Given the description of an element on the screen output the (x, y) to click on. 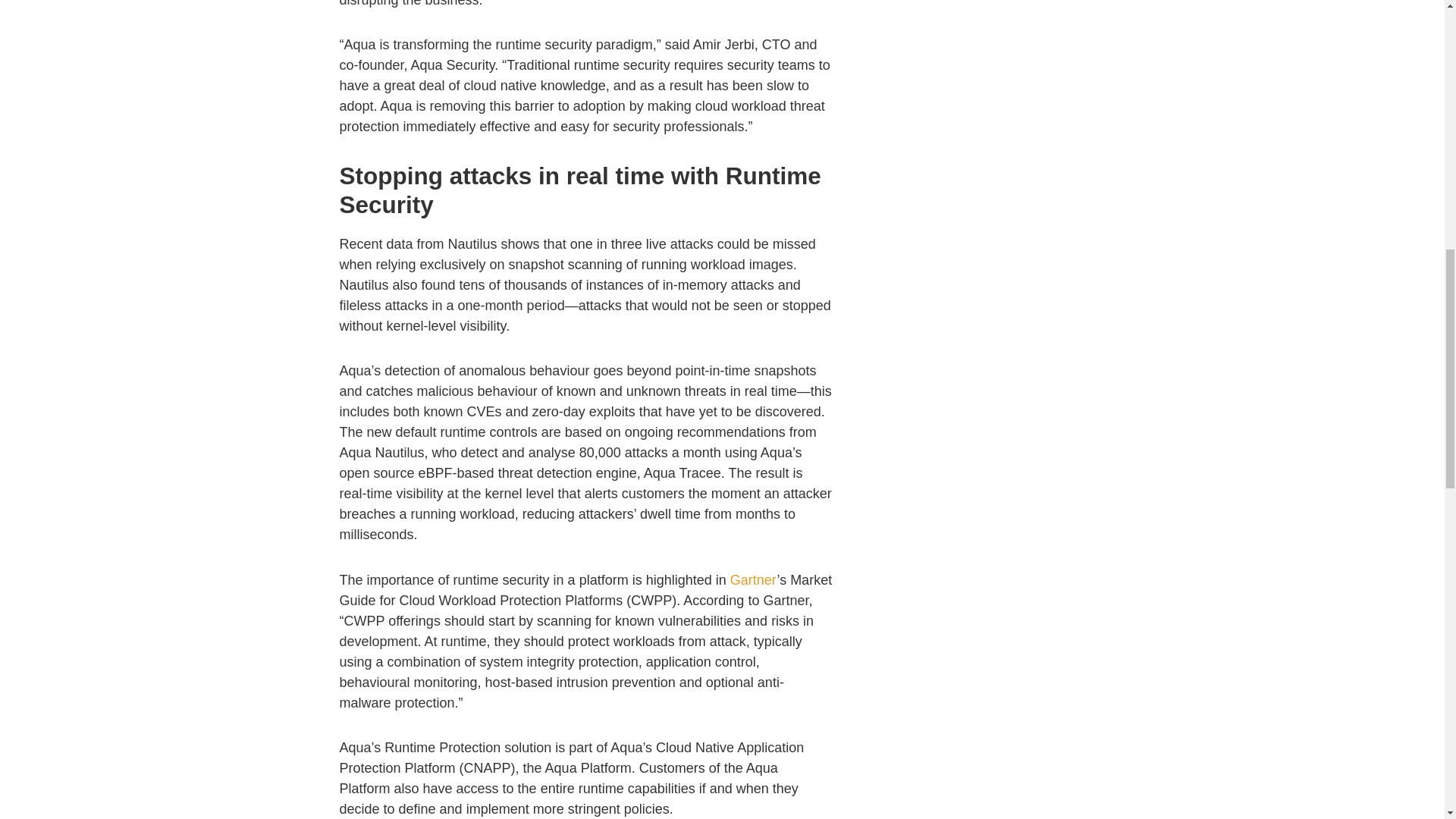
Gartner (753, 580)
